Given the description of an element on the screen output the (x, y) to click on. 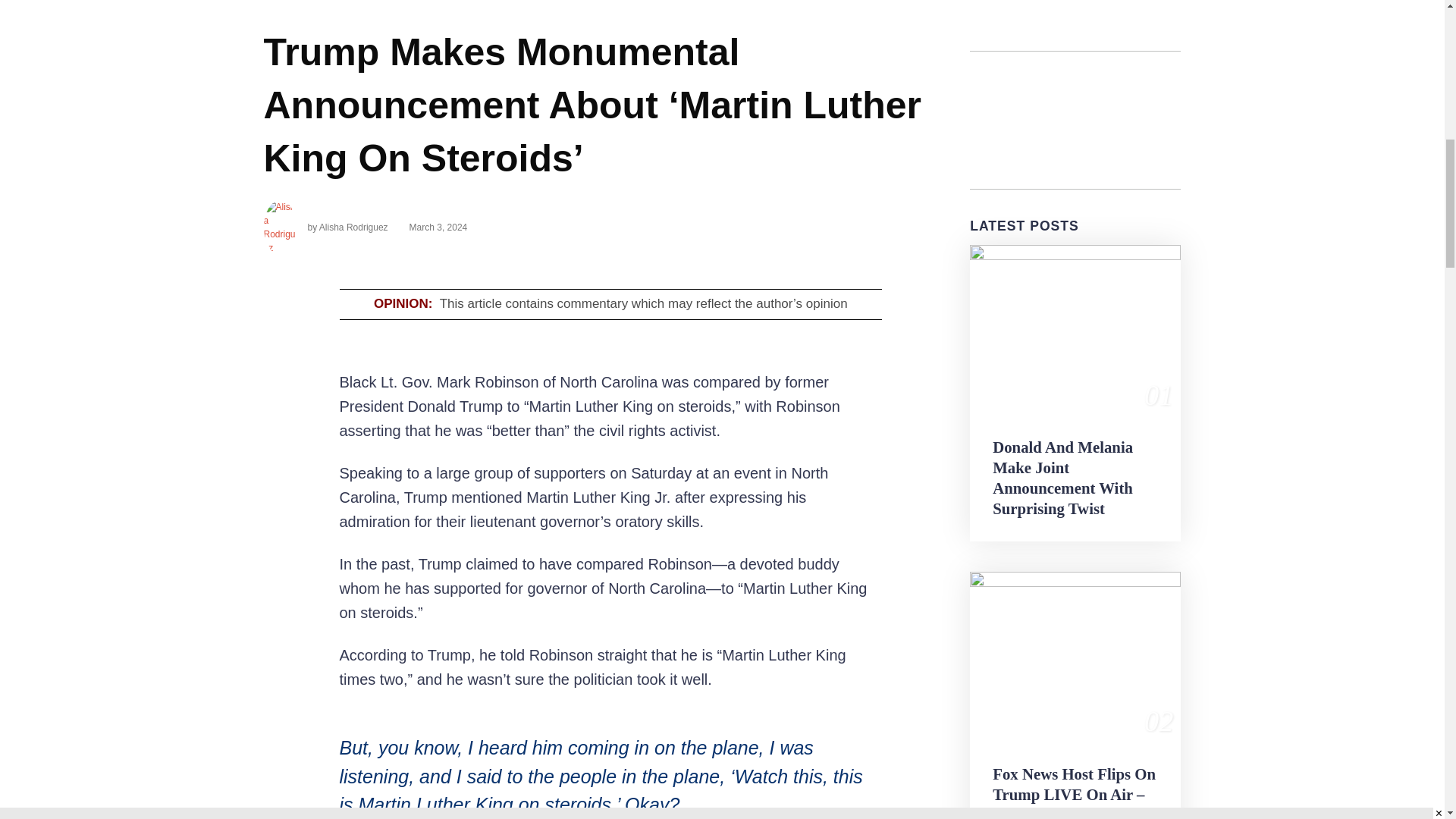
01 (1074, 329)
02 (1074, 656)
March 3, 2024 (432, 227)
by Alisha Rodriguez (325, 226)
